Given the description of an element on the screen output the (x, y) to click on. 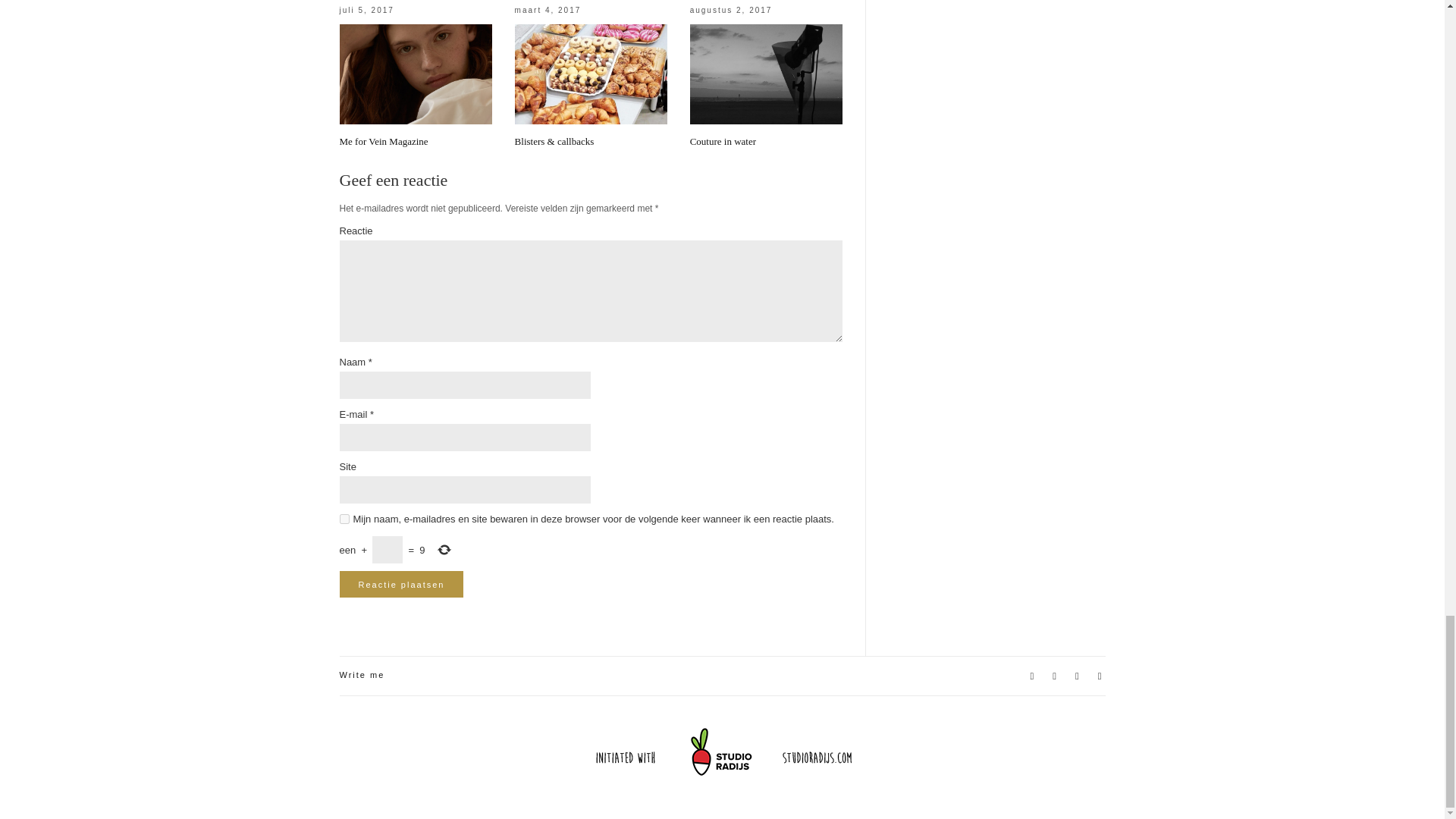
Reactie plaatsen (401, 583)
yes (344, 519)
Me for Vein Magazine (383, 141)
